Given the description of an element on the screen output the (x, y) to click on. 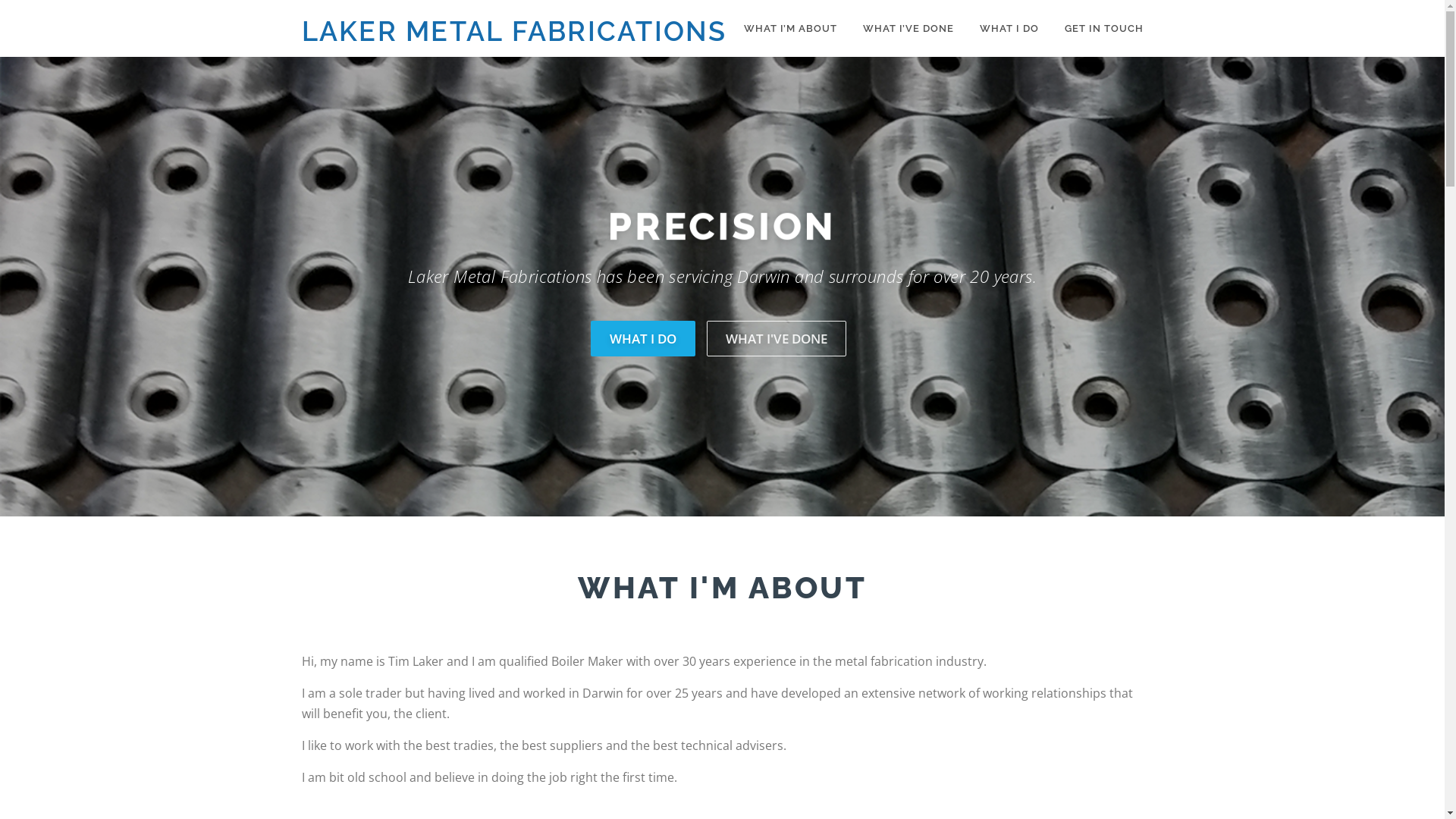
WHAT I DO Element type: text (642, 338)
LAKER METAL FABRICATIONS Element type: text (514, 31)
GET IN TOUCH Element type: text (1096, 28)
WHAT I'VE DONE Element type: text (776, 338)
WHAT I DO Element type: text (1008, 28)
